Given the description of an element on the screen output the (x, y) to click on. 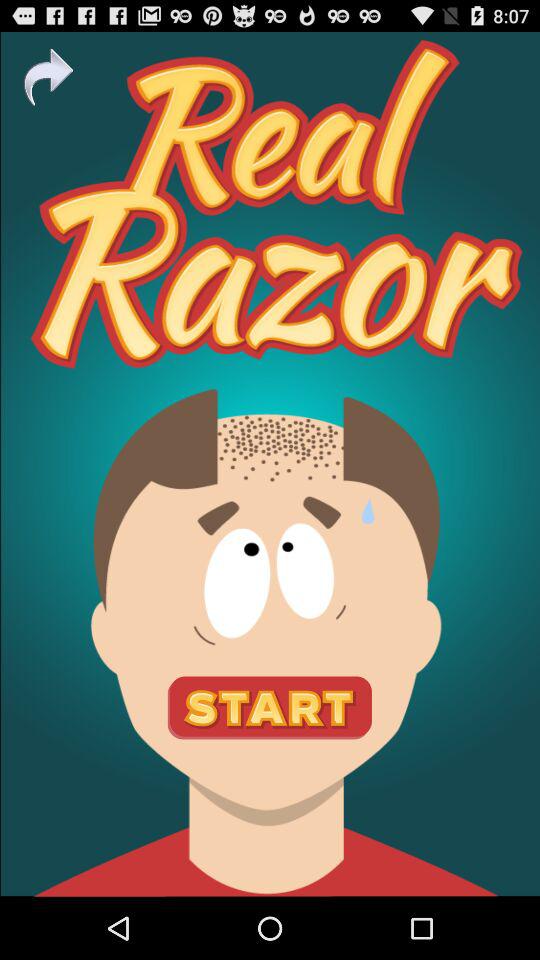
choose the icon at the center (270, 463)
